Given the description of an element on the screen output the (x, y) to click on. 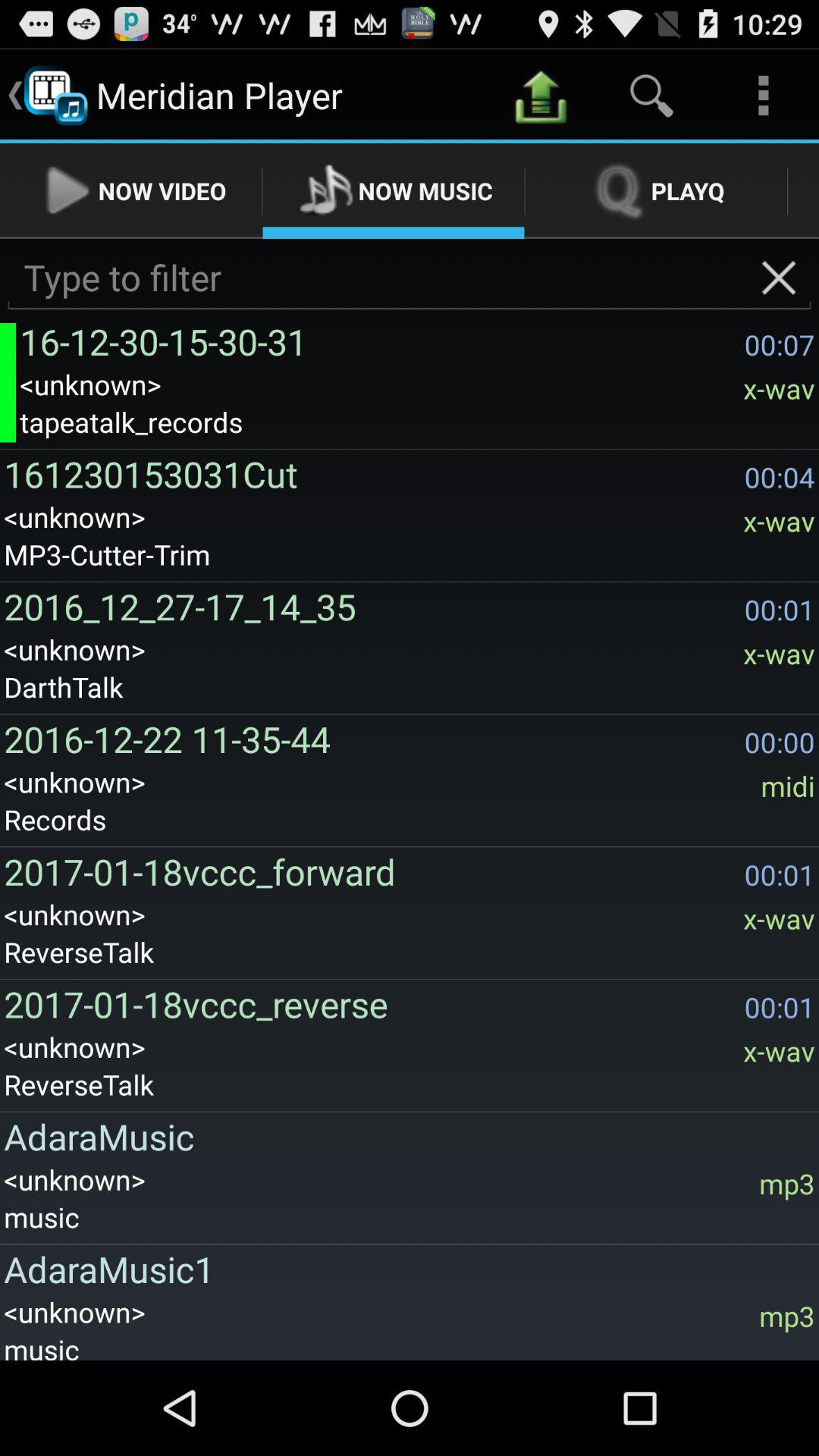
click the midi item (787, 785)
